Given the description of an element on the screen output the (x, y) to click on. 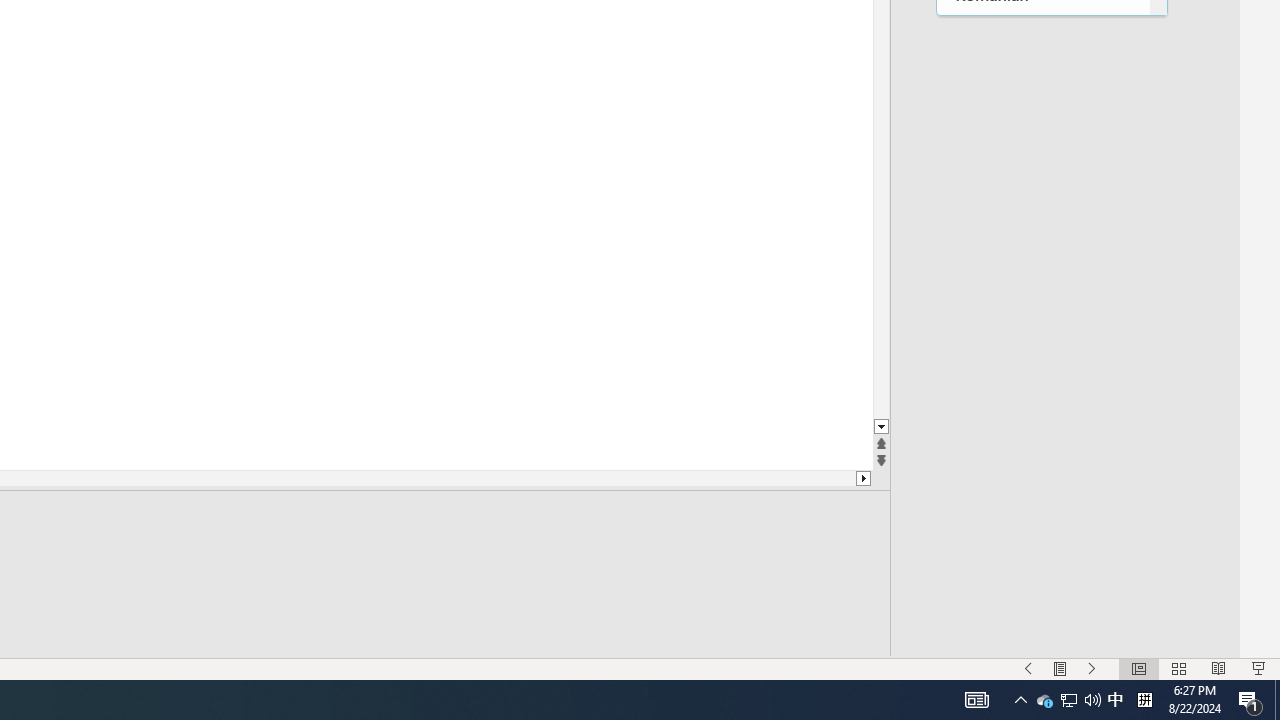
Sindhi (1042, 403)
Serbian (Cyrillic) (1042, 156)
Somali (1042, 567)
Spanish (1042, 608)
Serbian (Latin) (1042, 197)
Samoan (1042, 115)
